Given the description of an element on the screen output the (x, y) to click on. 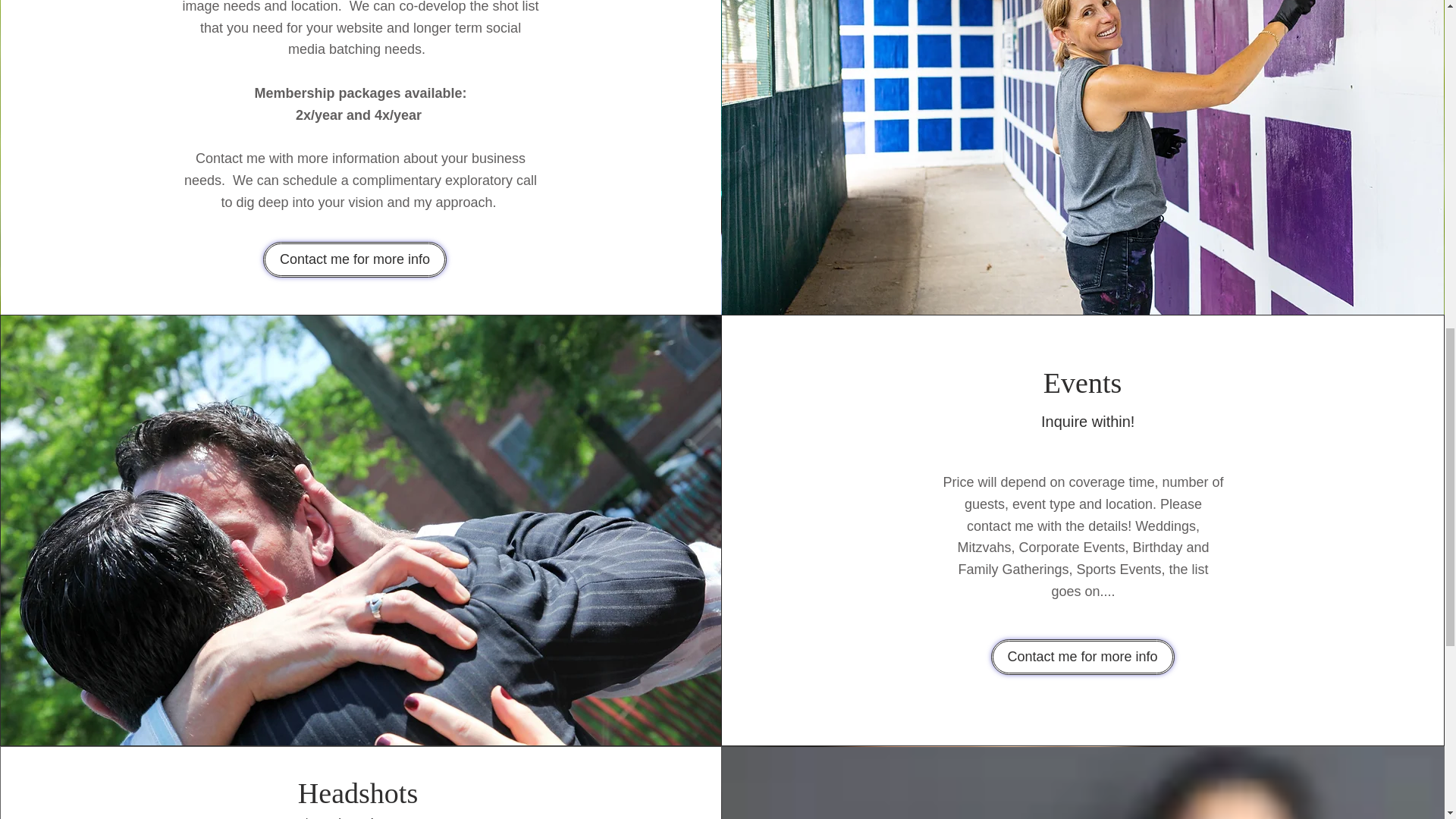
Contact me for more info (354, 259)
Contact me for more info (1082, 656)
